Given the description of an element on the screen output the (x, y) to click on. 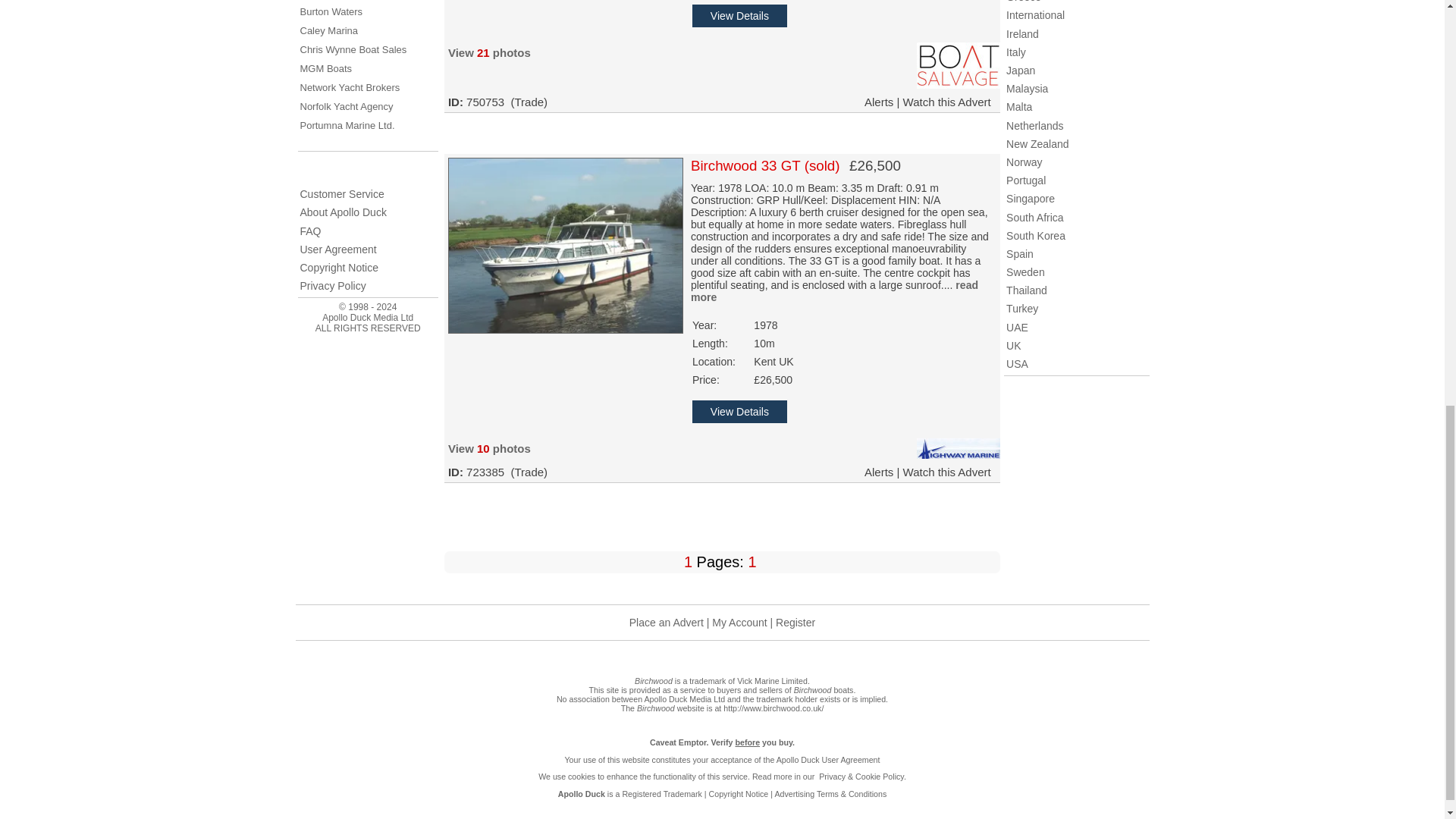
Norfolk Yacht Agency, UK (346, 106)
MGM Boats, Ireland (325, 68)
Caley Marina, UK (328, 30)
Portumna Marine Ltd., Ireland (346, 125)
Network Yacht Brokers, UK (349, 87)
Chris Wynne Boat Sales, Ireland (353, 49)
Burton Waters, UK (330, 11)
